Given the description of an element on the screen output the (x, y) to click on. 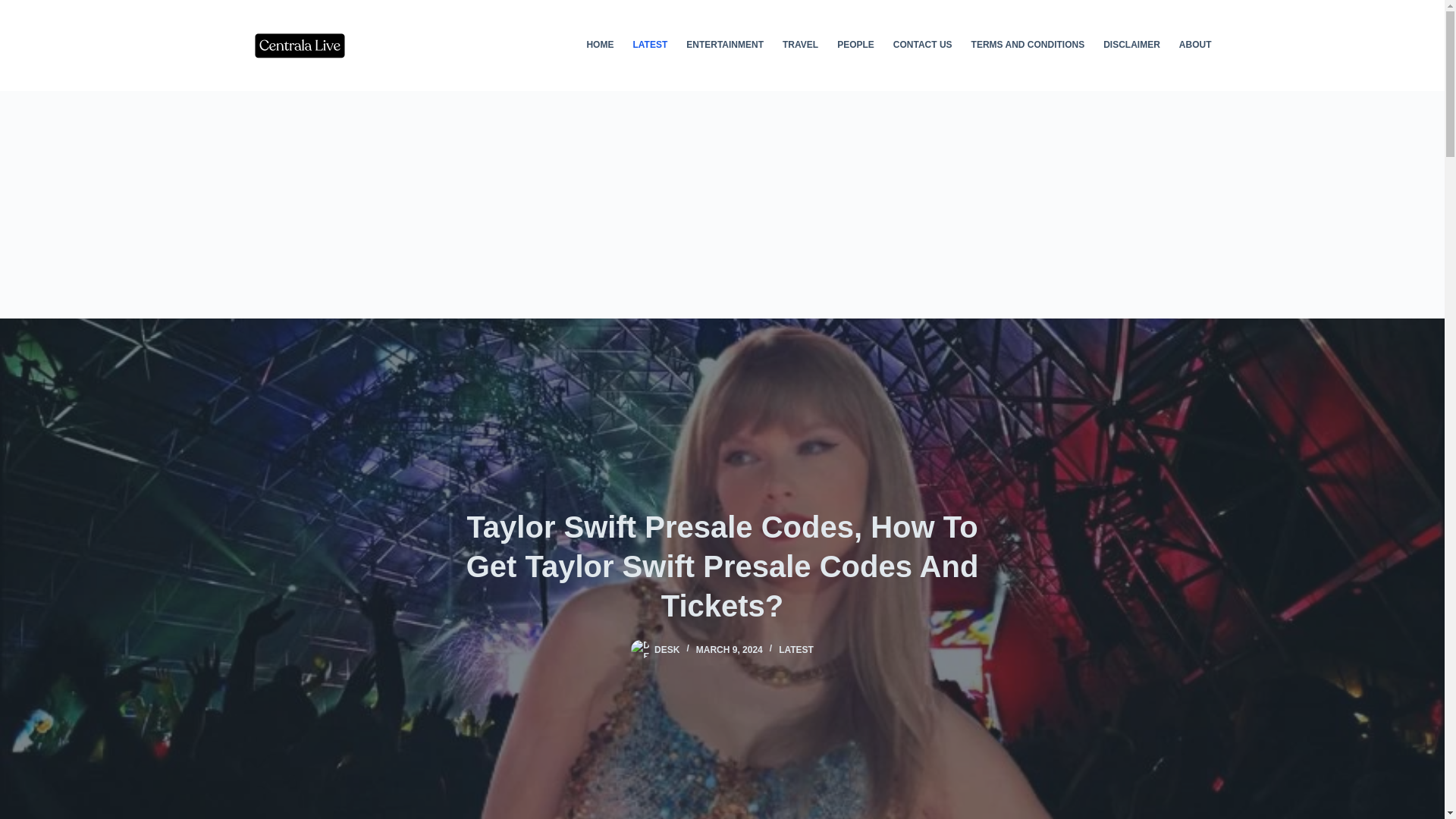
ENTERTAINMENT (725, 45)
LATEST (795, 649)
Posts by Desk (666, 649)
TERMS AND CONDITIONS (1027, 45)
DESK (666, 649)
Skip to content (15, 7)
